Given the description of an element on the screen output the (x, y) to click on. 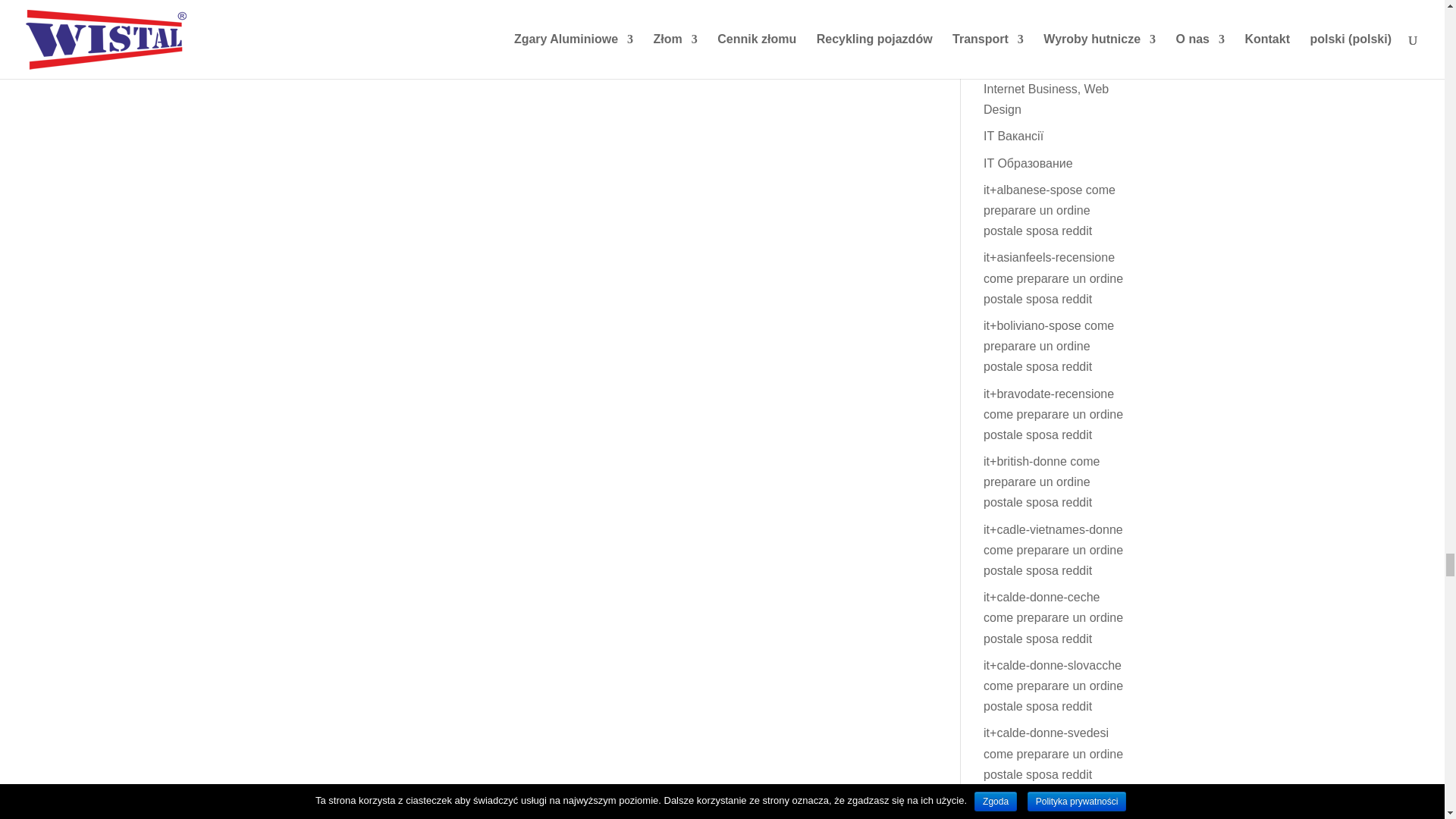
Internet Business, Web Design (1046, 99)
